Given the description of an element on the screen output the (x, y) to click on. 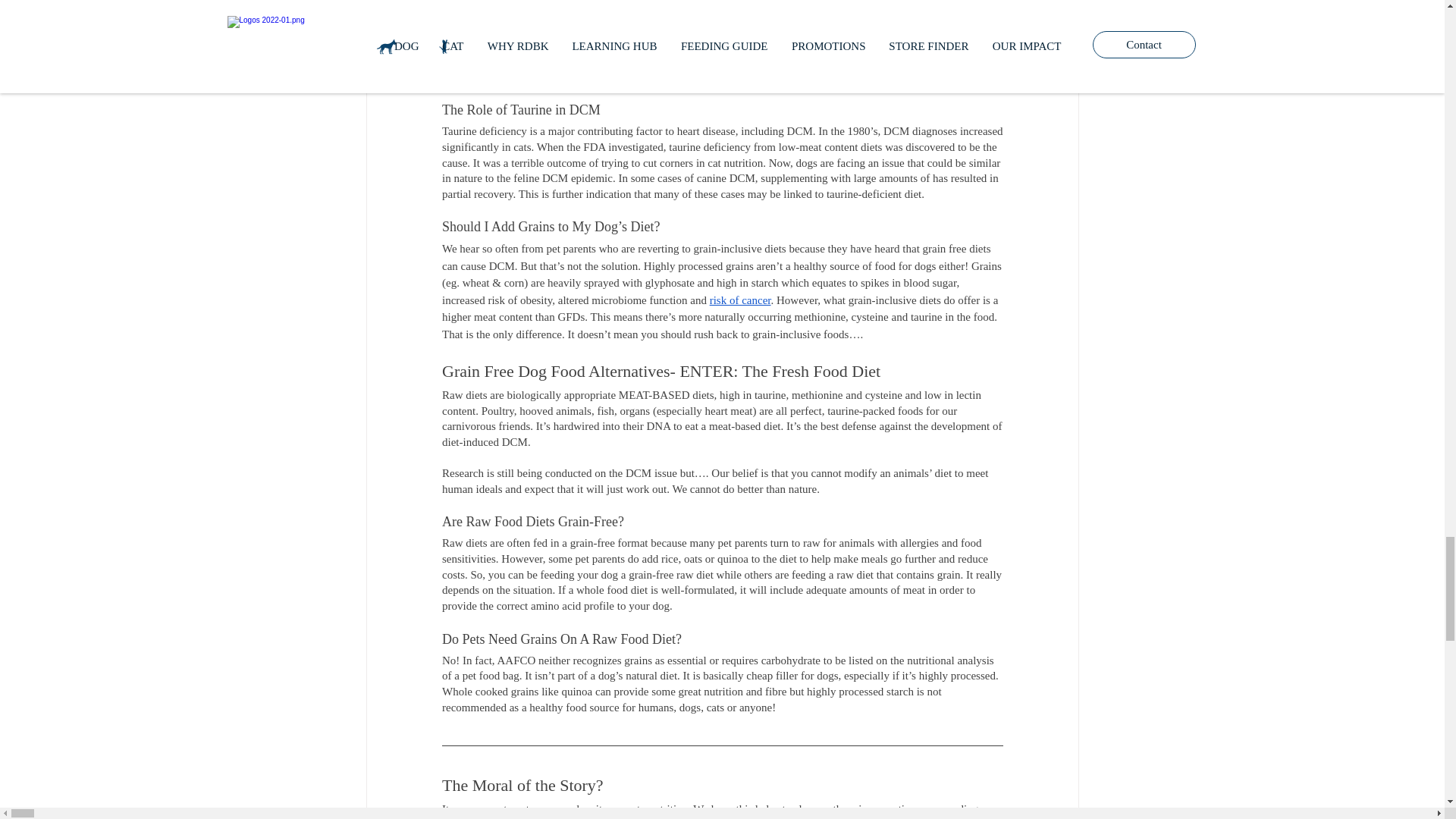
risk of cancer (739, 300)
